Given the description of an element on the screen output the (x, y) to click on. 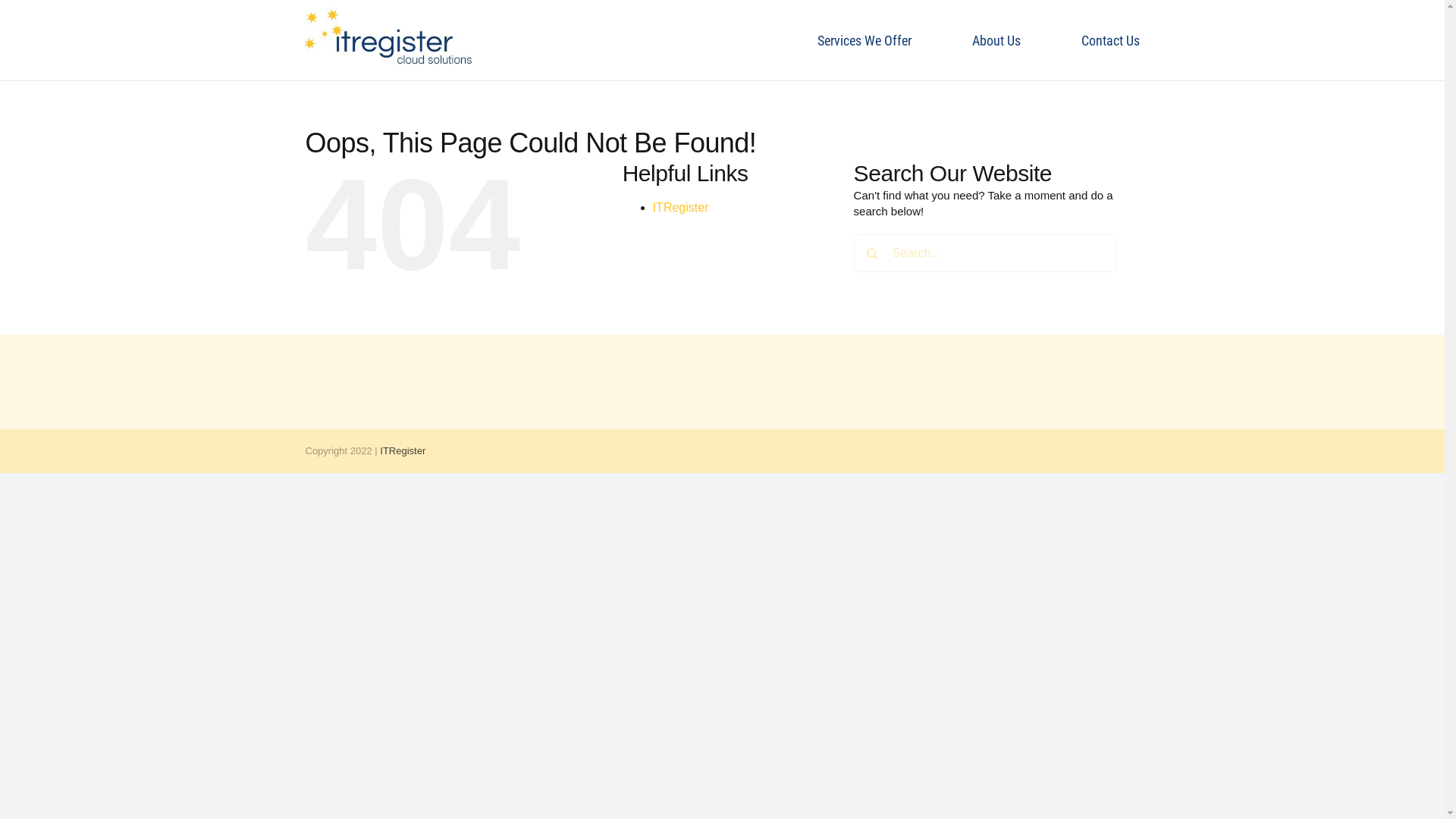
Services We Offer Element type: text (864, 40)
About Us Element type: text (996, 40)
ITRegister Element type: text (402, 450)
Contact Us Element type: text (1110, 40)
ITRegister Element type: text (680, 206)
ITRegister Element type: hover (387, 36)
